Given the description of an element on the screen output the (x, y) to click on. 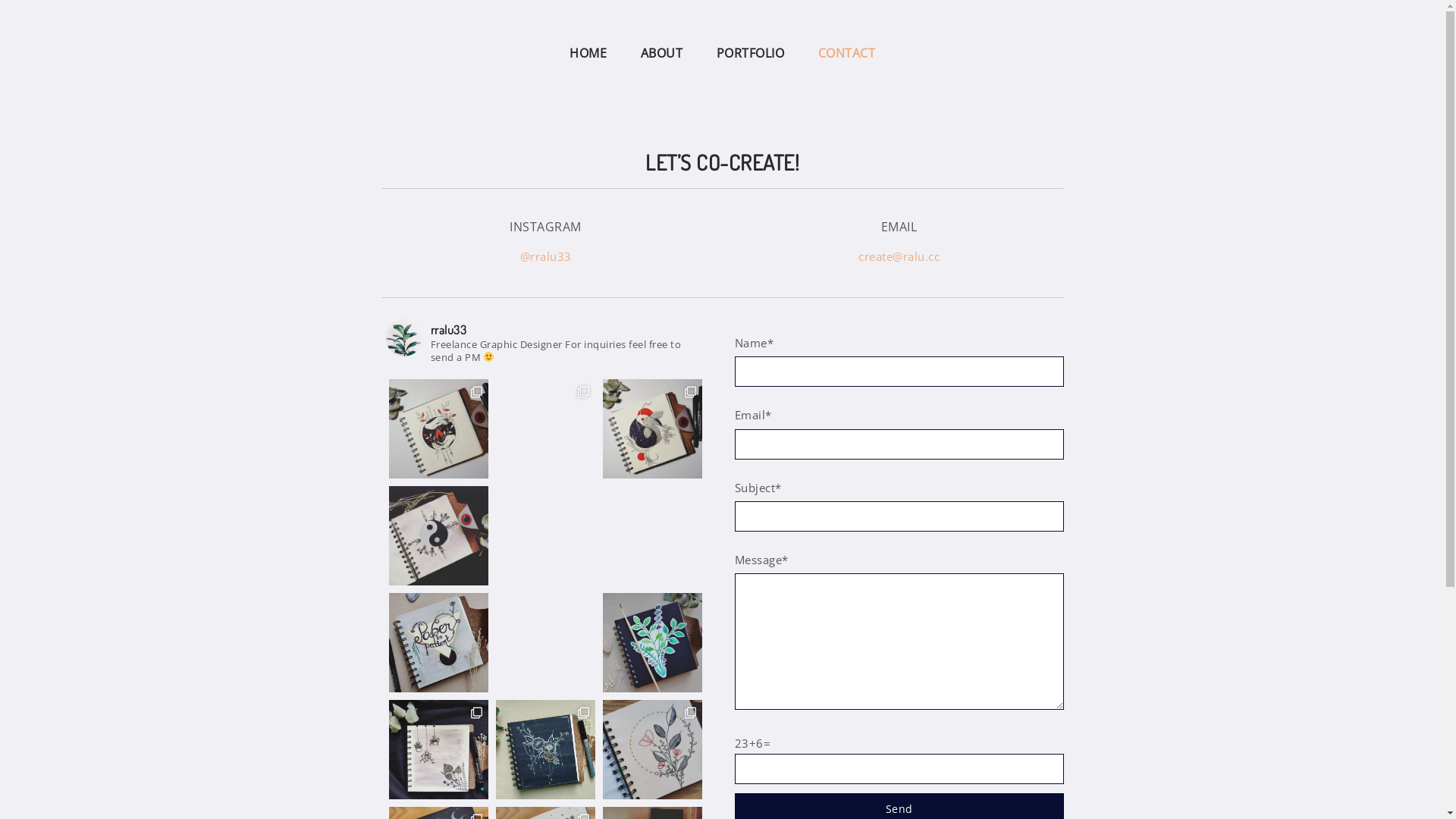
1/16 Here we go! #fish #thinlines #illustration # Element type: text (652, 428)
Day 10 - A tribute to the end of the earthly Capri Element type: text (545, 535)
RALU Element type: text (250, 54)
PORTFOLIO Element type: text (749, 52)
Day 6 - Taking advantage of the exploration orient Element type: text (652, 642)
Skip to content Element type: text (0, 0)
2/16 With the speed of things moving on the intern Element type: text (545, 428)
Day 7 - Make time for the things you love doing, n Element type: text (545, 642)
3/16 As a Water Genasi, you'd expect Keani to we w Element type: text (437, 428)
Day 8 - Whenever I have less time to dedicate to p Element type: text (437, 642)
Day 5 - "How do you feel now that you've turned (i Element type: text (437, 749)
Life gets busy sometimes and you completely fail t Element type: text (437, 535)
create@ralu.cc Element type: text (898, 255)
ABOUT Element type: text (660, 52)
Day 3 - When a flower doesn't bloom, you fix the e Element type: text (652, 749)
@rralu33 Element type: text (545, 255)
Day 9 - Considering current environmental events h Element type: text (652, 535)
HOME Element type: text (587, 52)
CONTACT Element type: text (846, 52)
Day 4 - #lineart #illustration #blackback Element type: text (545, 749)
